Given the description of an element on the screen output the (x, y) to click on. 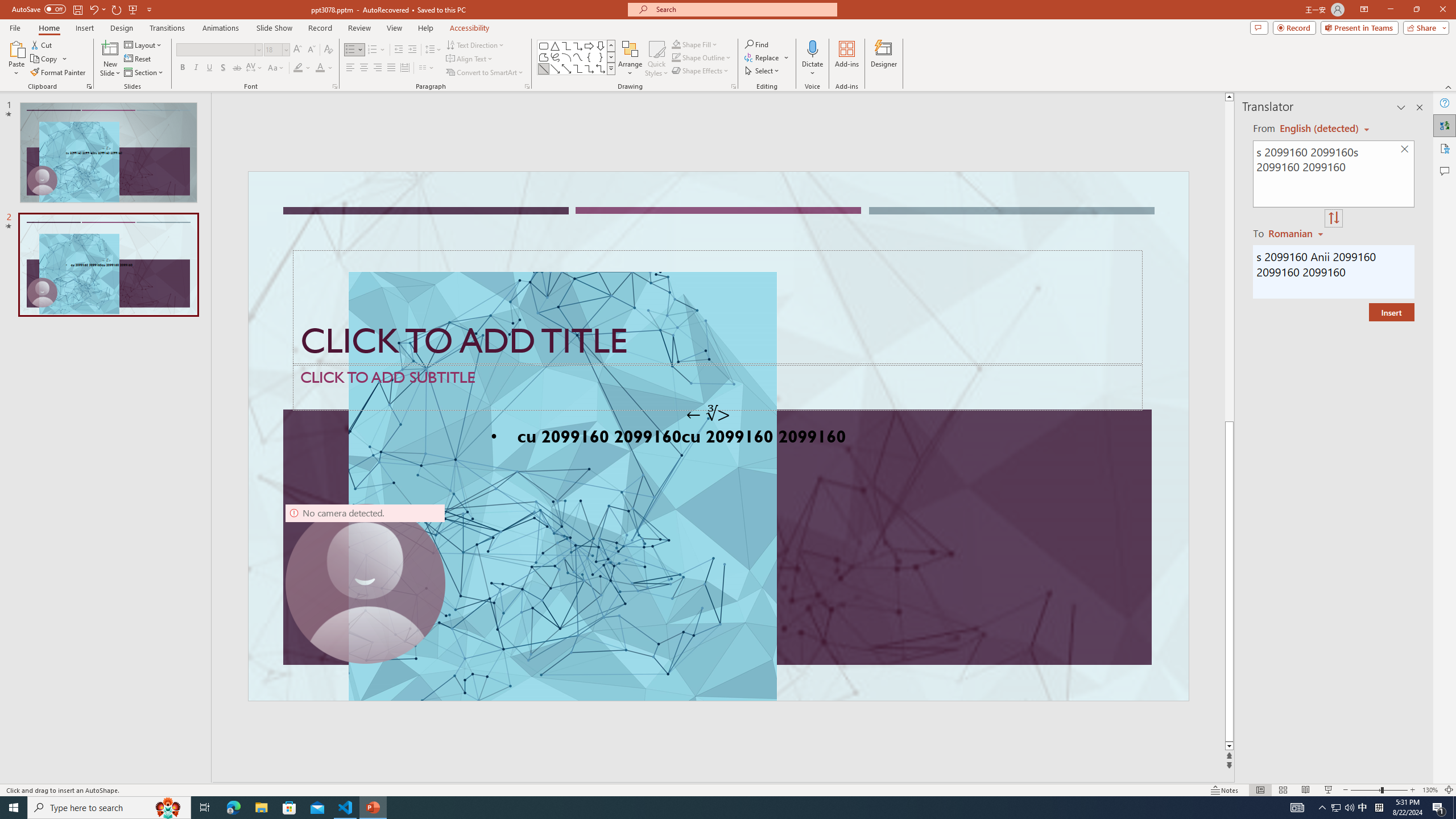
TextBox 7 (708, 414)
